Given the description of an element on the screen output the (x, y) to click on. 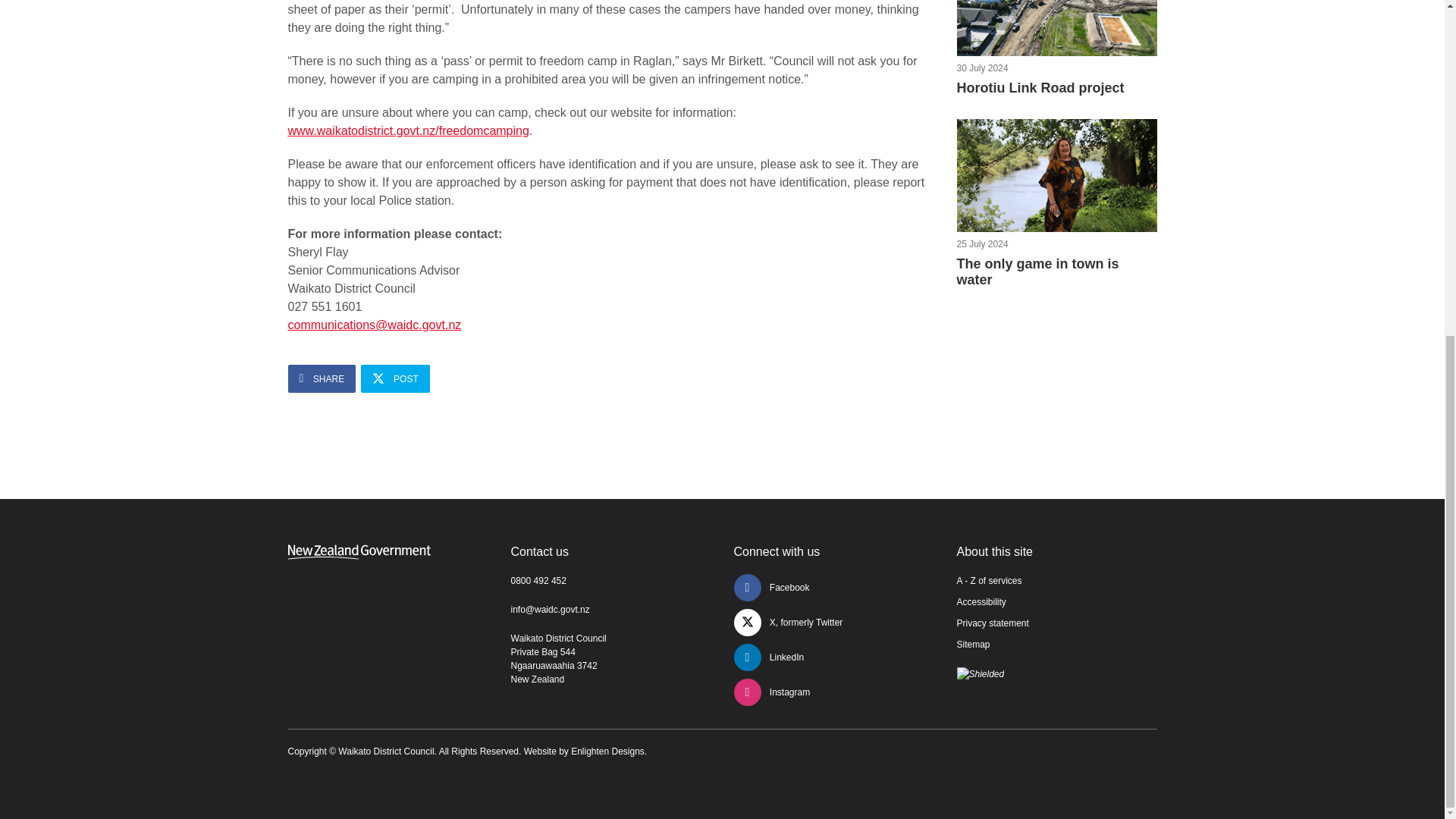
Facebook (1056, 48)
Mayor Jacqui Church (1056, 203)
Instagram (771, 587)
About this site (1056, 174)
LinkedIn (771, 692)
Contact us (994, 551)
Horotiu Link Road (769, 656)
POST (540, 551)
SHARE (1056, 28)
New Zealand Government (395, 378)
X, formerly Twitter (322, 378)
0800 492 452 (359, 551)
A - Z of services (788, 622)
